Given the description of an element on the screen output the (x, y) to click on. 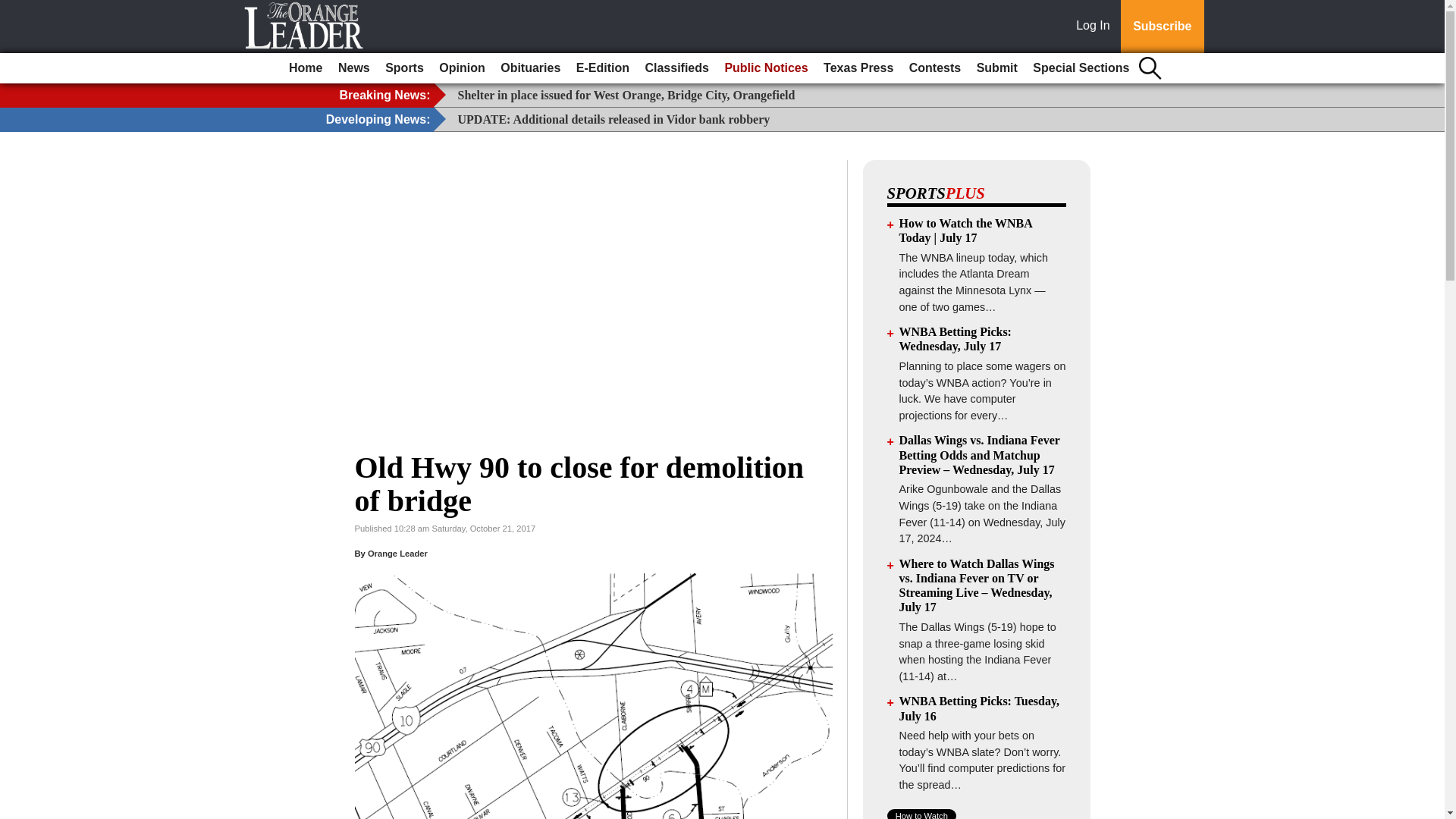
UPDATE: Additional details released in Vidor bank robbery (614, 119)
Home (305, 68)
WNBA Betting Picks: Wednesday, July 17 (955, 338)
Public Notices (765, 68)
Log In (1095, 26)
Contests (934, 68)
UPDATE: Additional details released in Vidor bank robbery (614, 119)
Texas Press (857, 68)
Subscribe (1162, 26)
Go (13, 9)
Special Sections (1080, 68)
Obituaries (530, 68)
News (353, 68)
Opinion (461, 68)
Classifieds (676, 68)
